Given the description of an element on the screen output the (x, y) to click on. 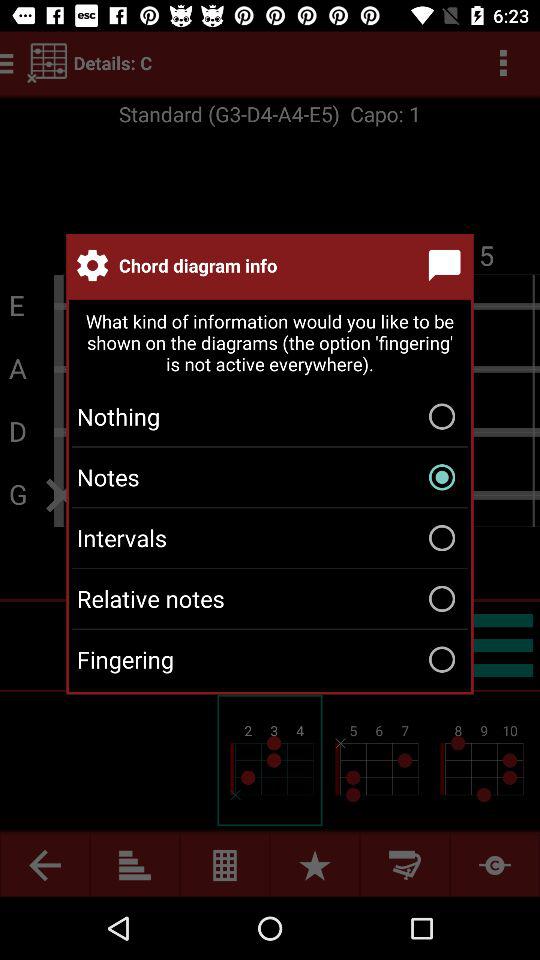
scroll to relative notes (269, 598)
